Given the description of an element on the screen output the (x, y) to click on. 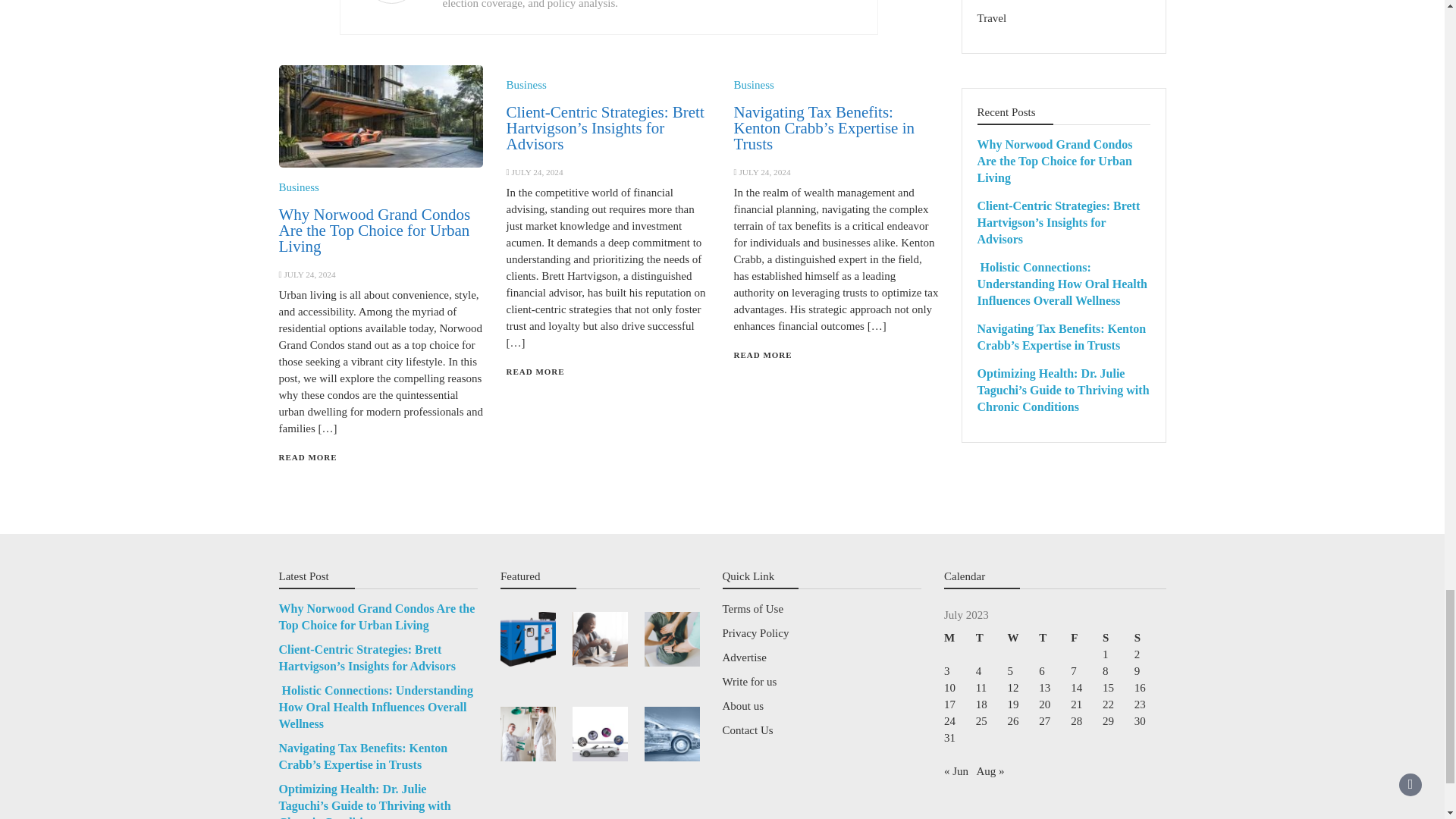
JULY 24, 2024 (764, 171)
Business (525, 84)
Why Norwood Grand Condos Are the Top Choice for Urban Living (374, 230)
Business (298, 186)
READ MORE (308, 456)
Monday (959, 637)
Business (753, 84)
Wednesday (1023, 637)
Friday (1086, 637)
JULY 24, 2024 (536, 171)
Saturday (1118, 637)
Tuesday (991, 637)
READ MORE (762, 354)
Thursday (1054, 637)
JULY 24, 2024 (308, 274)
